Given the description of an element on the screen output the (x, y) to click on. 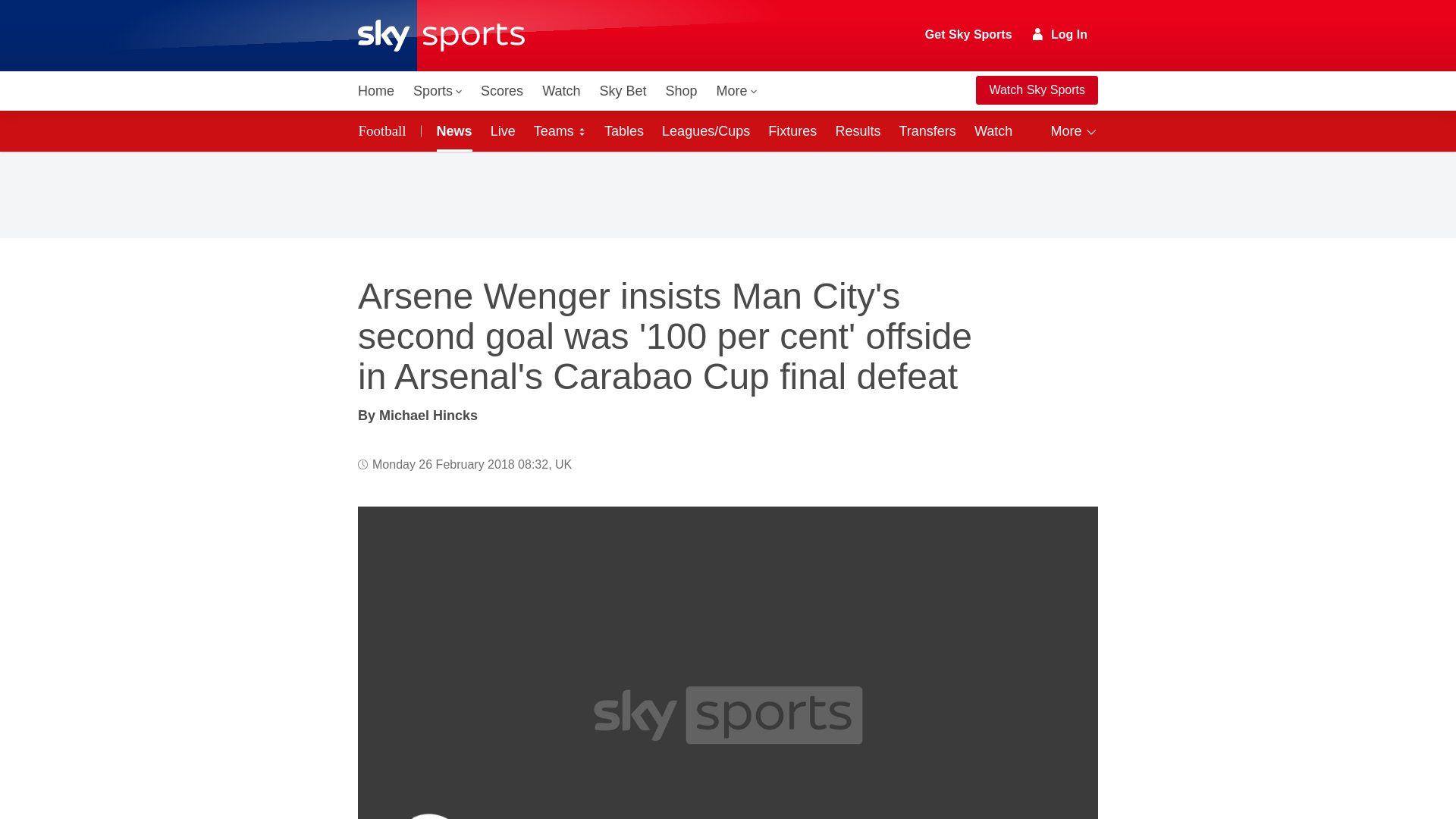
Sports (437, 91)
Shop (681, 91)
News (451, 130)
Scores (502, 91)
Watch Sky Sports (1036, 90)
Log In (1060, 33)
Football (385, 130)
Watch (561, 91)
Sky Bet (622, 91)
Home (375, 91)
